Given the description of an element on the screen output the (x, y) to click on. 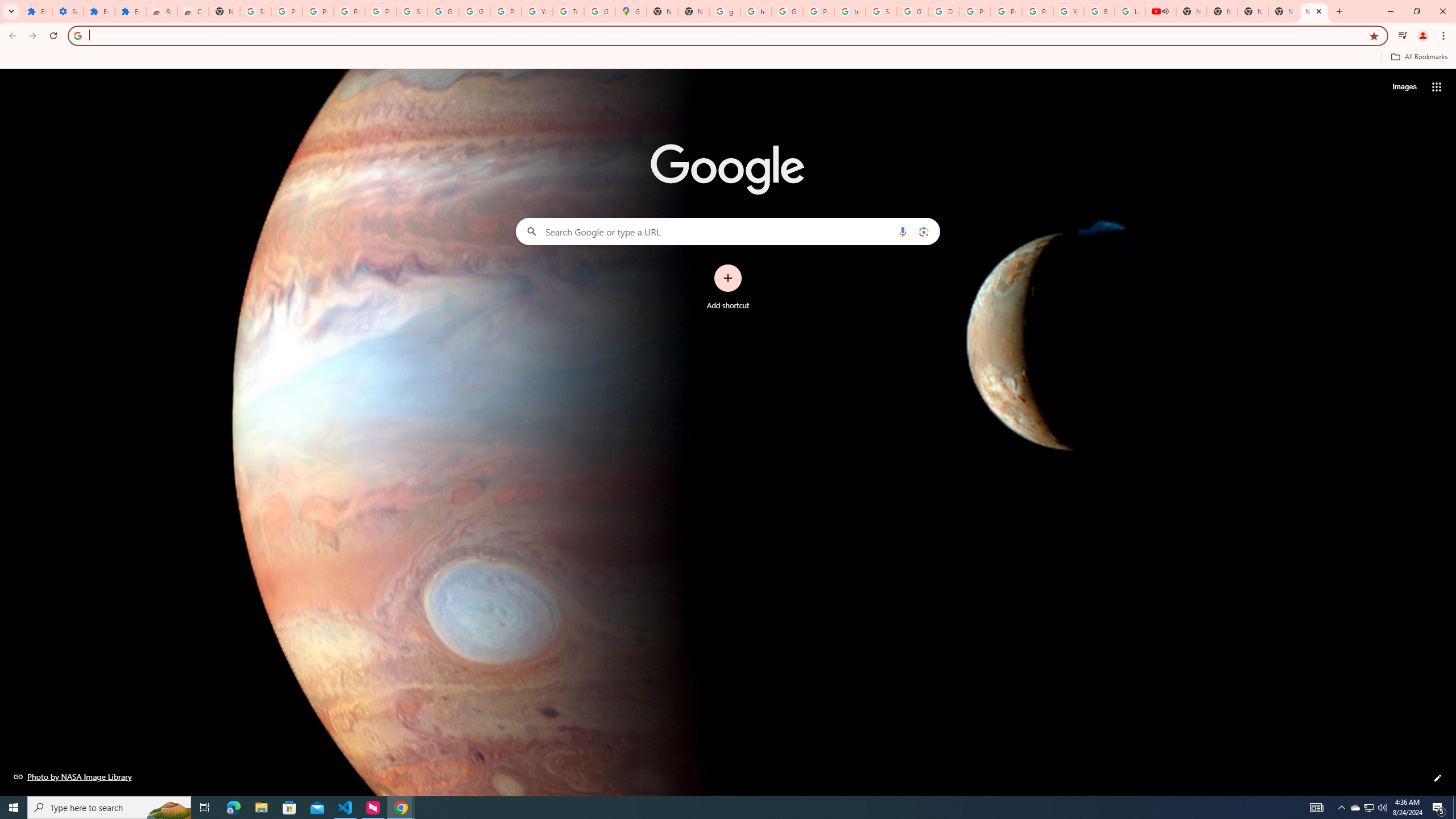
Sign in - Google Accounts (881, 11)
Privacy Help Center - Policies Help (974, 11)
New Tab (1314, 11)
Bookmarks (728, 58)
Privacy Help Center - Policies Help (1005, 11)
